Given the description of an element on the screen output the (x, y) to click on. 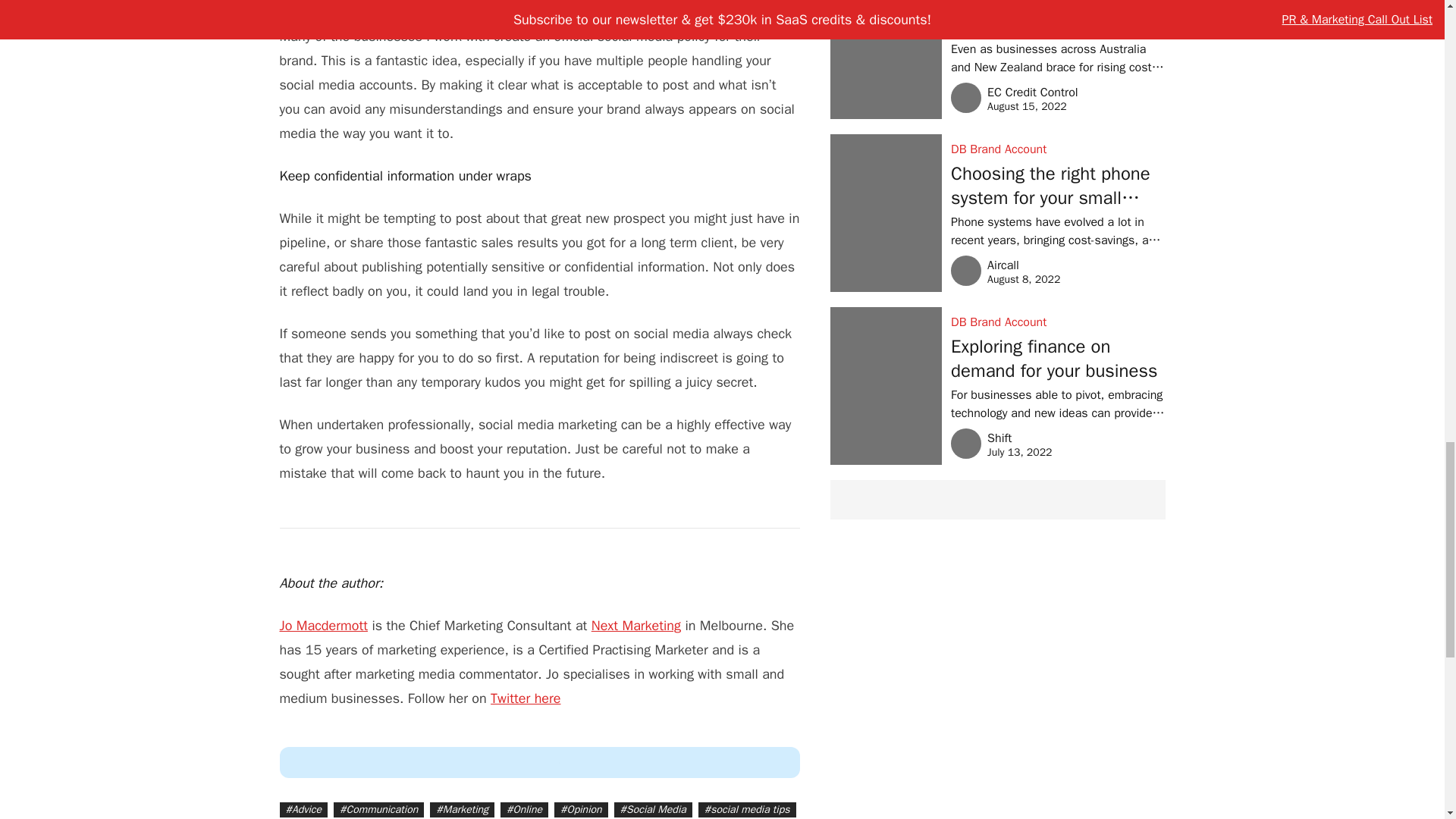
Twitter here (525, 698)
Jo Macdermott (322, 625)
Next Marketing (636, 625)
